Given the description of an element on the screen output the (x, y) to click on. 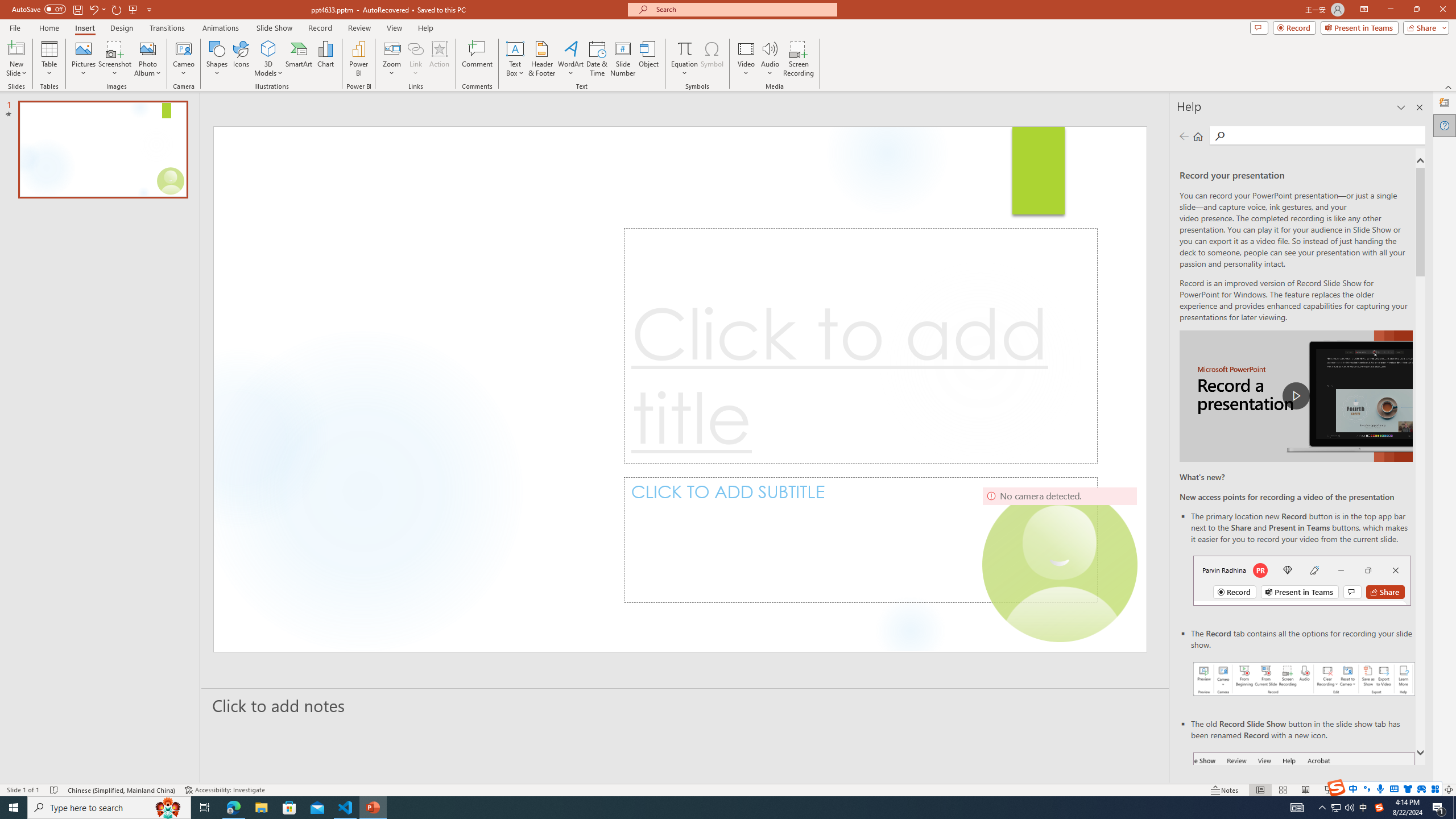
Link (415, 48)
Equation (683, 48)
Symbol... (711, 58)
Audio (769, 58)
Cameo (183, 58)
play Record a Presentation (1296, 395)
